Given the description of an element on the screen output the (x, y) to click on. 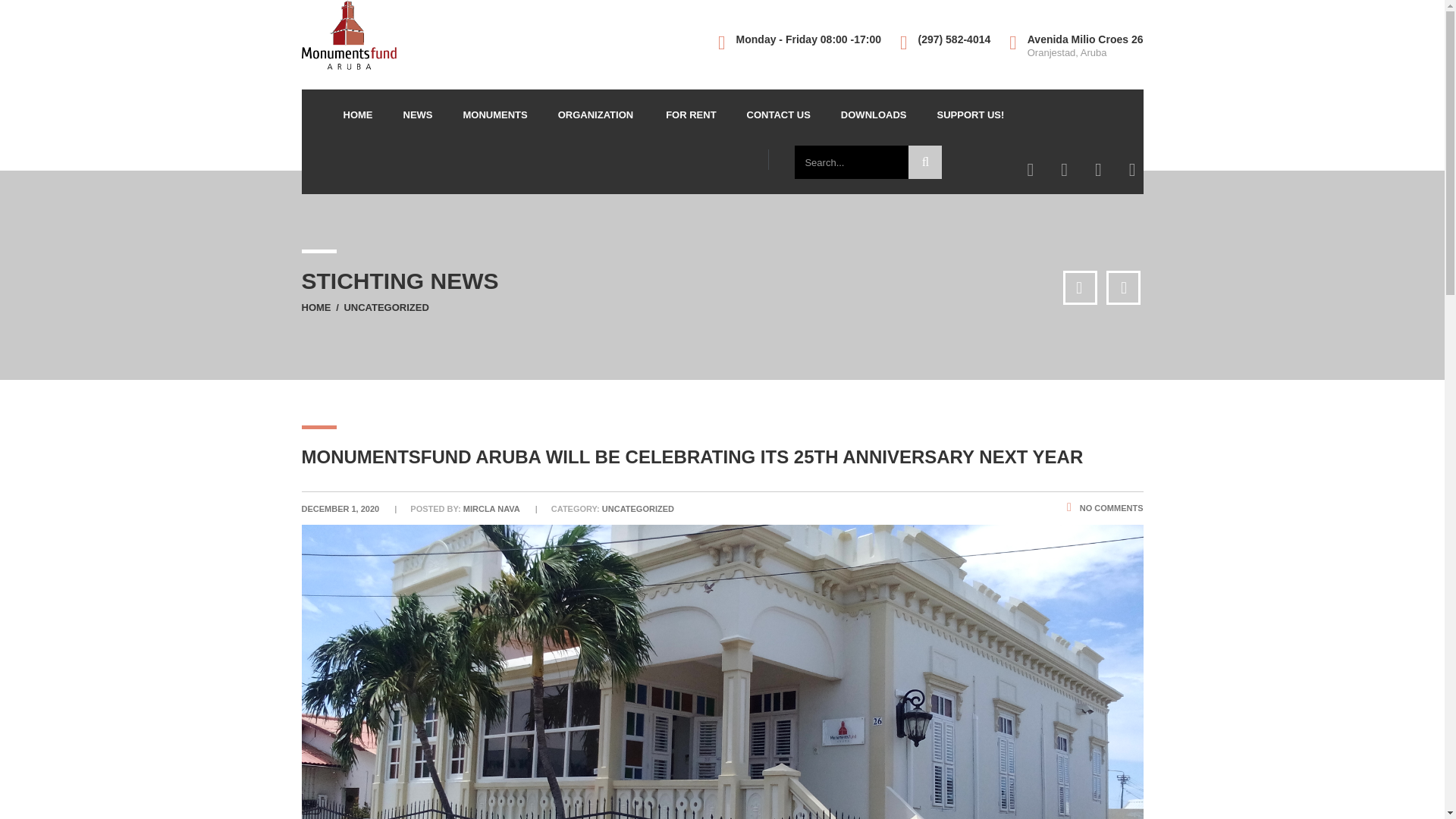
HOME (357, 113)
CONTACT US (778, 113)
SUPPORT US! (970, 113)
Email (1016, 649)
ORGANIZATION (596, 113)
UNCATEGORIZED (385, 307)
Subscribe (982, 680)
HOME (316, 307)
FOR RENT (690, 113)
NEWS (418, 113)
DOWNLOADS (873, 113)
MONUMENTS (493, 113)
